Given the description of an element on the screen output the (x, y) to click on. 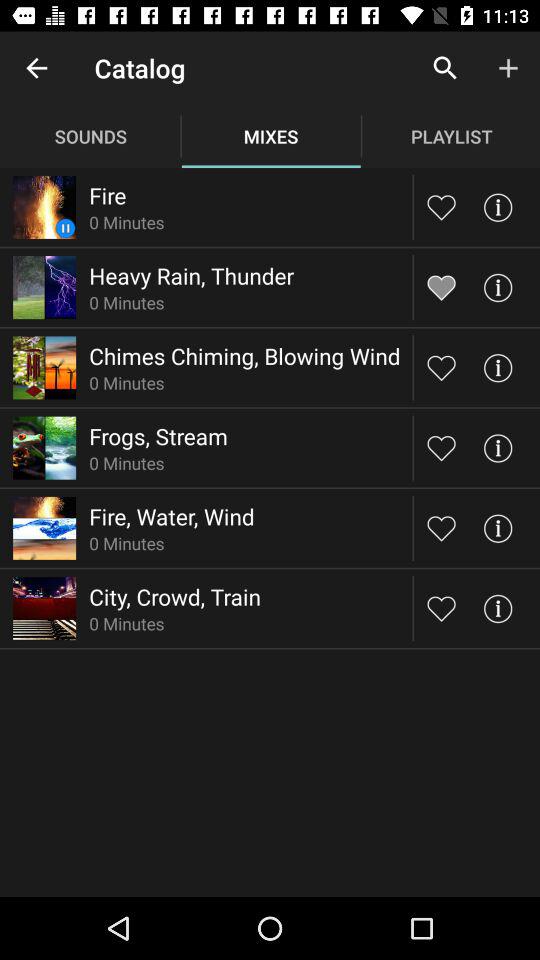
heart (441, 287)
